Given the description of an element on the screen output the (x, y) to click on. 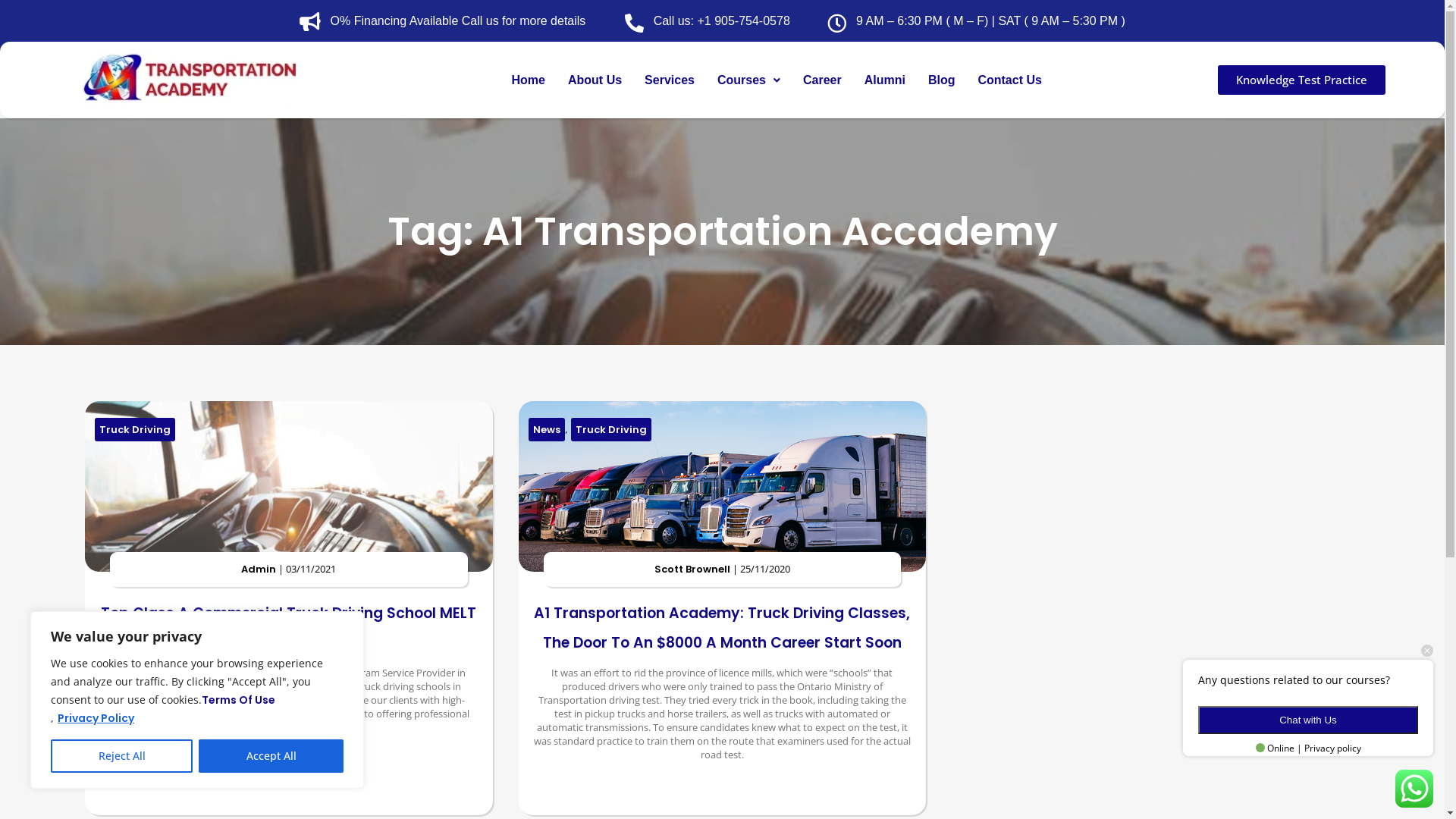
Truck Driving Element type: text (134, 429)
Top Class A Commercial Truck Driving School MELT Program Element type: text (288, 627)
Accept All Element type: text (270, 755)
Blog Element type: text (941, 79)
Scott Brownell Element type: text (692, 568)
News Element type: text (546, 429)
Career Element type: text (822, 79)
Home Element type: text (528, 79)
Alumni Element type: text (884, 79)
Knowledge Test Practice Element type: text (1301, 79)
Courses Element type: text (748, 79)
Tag: A1 Transportation Accademy Element type: text (721, 230)
Reject All Element type: text (121, 755)
About Us Element type: text (594, 79)
Contact Us Element type: text (1009, 79)
Admin Element type: text (258, 568)
Chat with Us Element type: text (1308, 720)
Terms Of Use Element type: text (238, 699)
Services Element type: text (669, 79)
Privacy Policy Element type: text (95, 717)
Truck Driving Element type: text (611, 429)
